Given the description of an element on the screen output the (x, y) to click on. 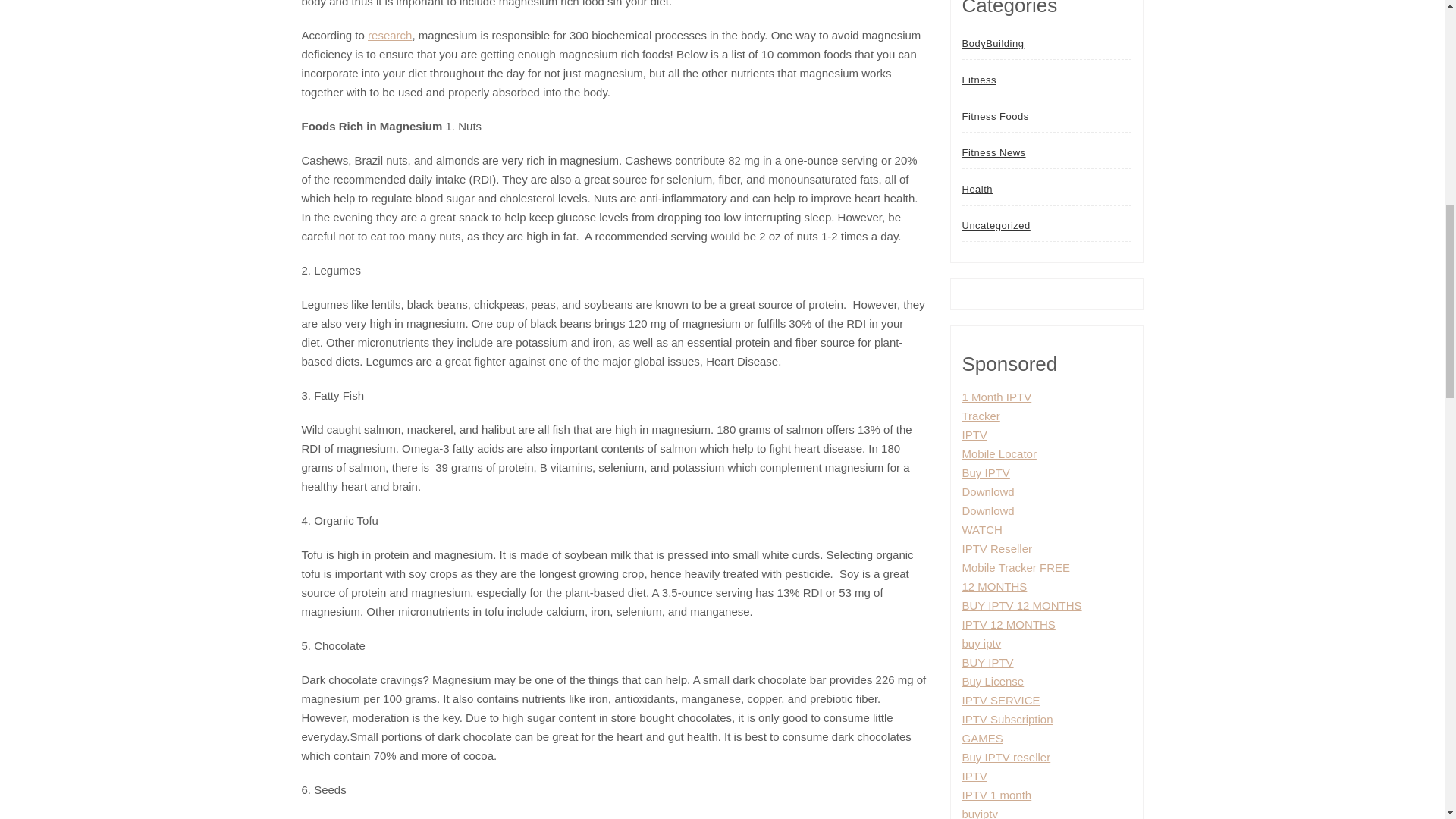
research (390, 34)
